Given the description of an element on the screen output the (x, y) to click on. 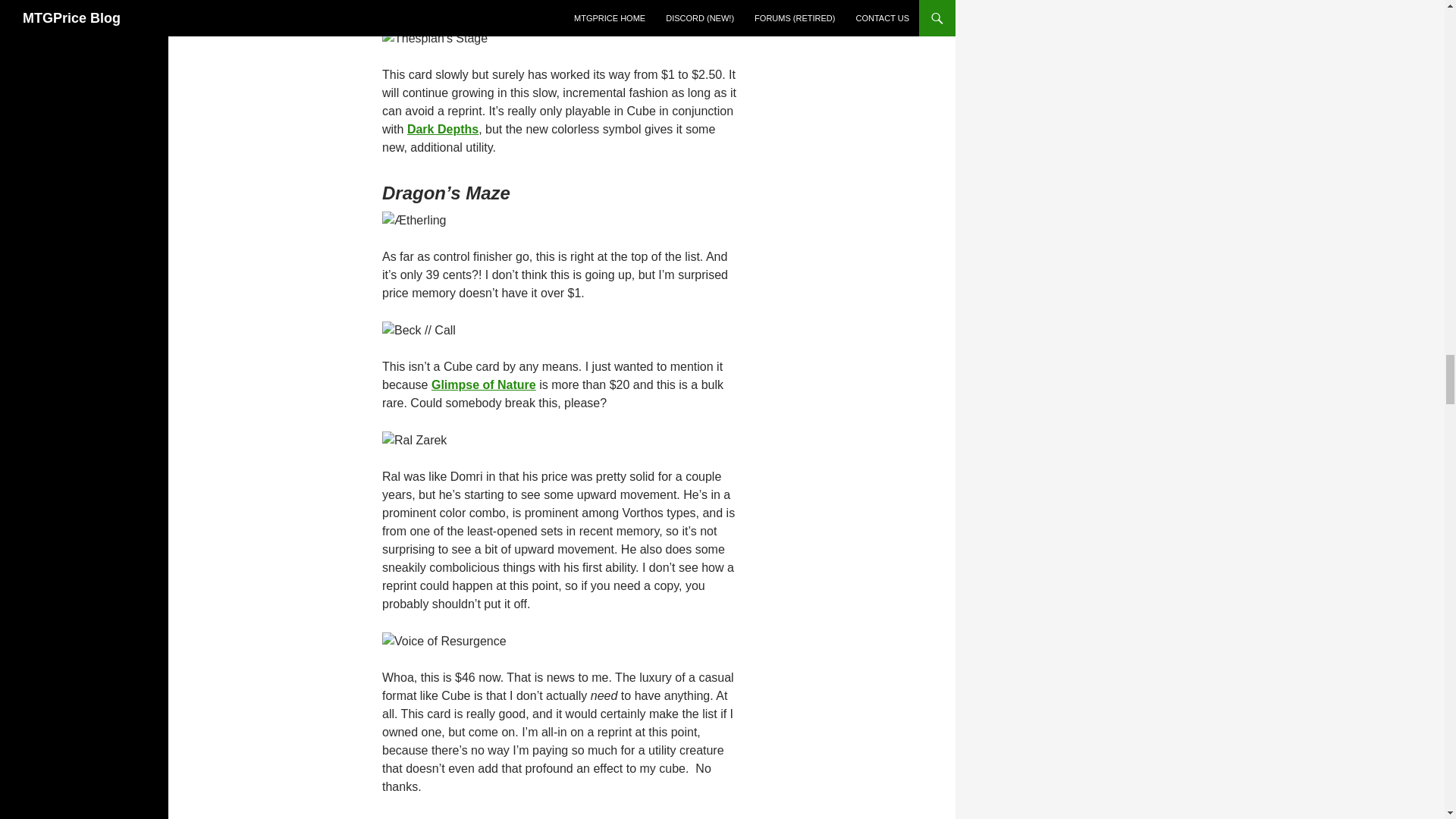
Dark Depths (443, 128)
Glimpse of Nature (482, 384)
